Given the description of an element on the screen output the (x, y) to click on. 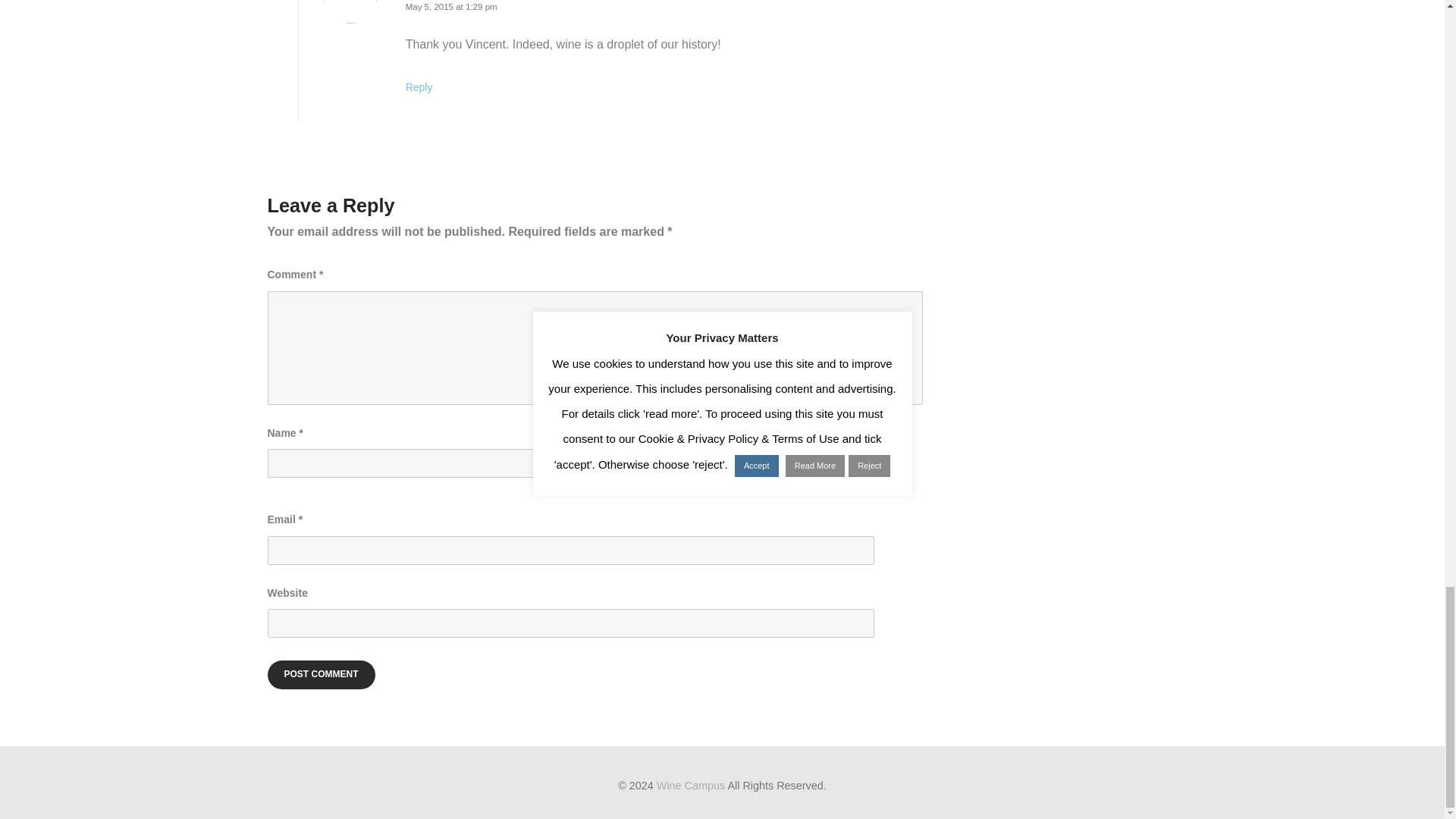
Post Comment (320, 674)
